Given the description of an element on the screen output the (x, y) to click on. 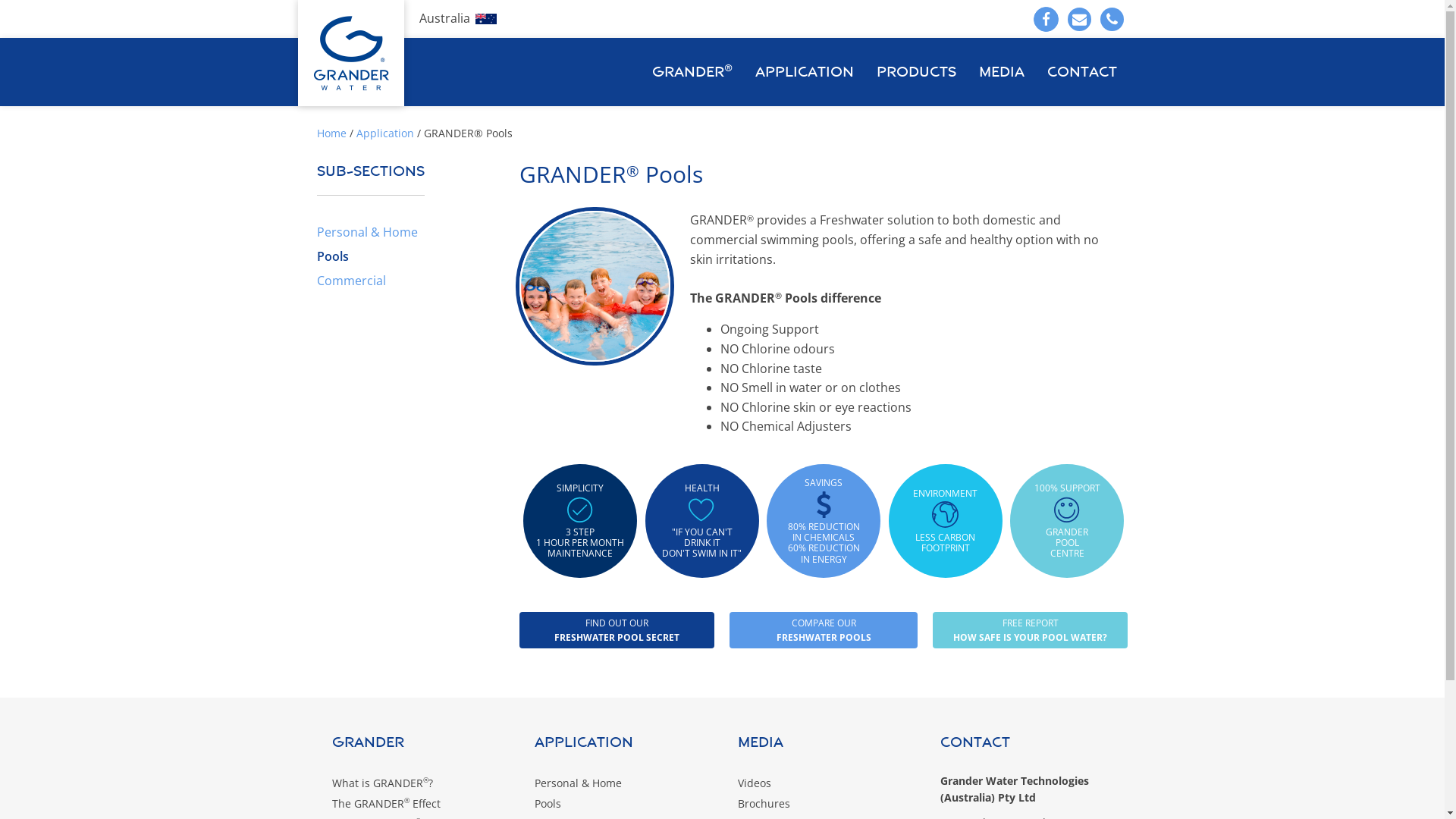
Pools Element type: text (620, 803)
Commercial Element type: text (350, 280)
FIND OUT OUR
FRESHWATER POOL SECRET Element type: text (616, 629)
Application Element type: text (803, 71)
CONTACT Element type: text (1026, 751)
Pools Element type: text (332, 255)
Personal & Home Element type: text (366, 231)
Personal & Home Element type: text (620, 782)
Products Element type: text (915, 71)
Application Element type: text (620, 751)
Contact Element type: text (1081, 71)
Videos Element type: text (823, 782)
Brochures Element type: text (823, 803)
FREE REPORT
HOW SAFE IS YOUR POOL WATER? Element type: text (1029, 629)
Home Element type: text (331, 132)
Application Element type: text (385, 132)
GRANDER Element type: text (418, 751)
Media Element type: text (1001, 71)
COMPARE OUR
FRESHWATER POOLS Element type: text (823, 629)
